Given the description of an element on the screen output the (x, y) to click on. 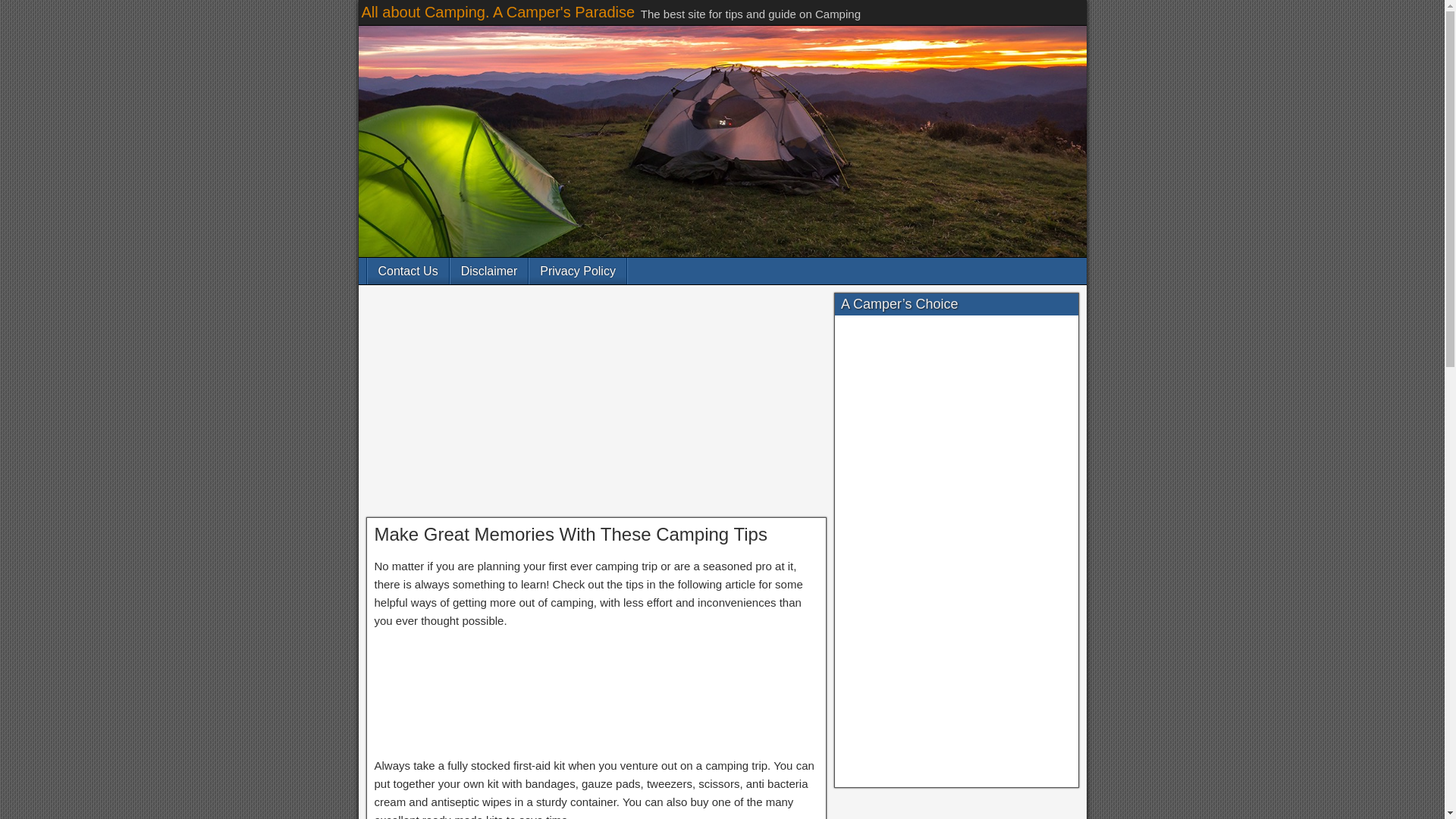
Make Great Memories With These Camping Tips (570, 534)
All about Camping. A Camper's Paradise (497, 12)
Advertisement (596, 404)
Contact Us (407, 270)
Privacy Policy (577, 270)
Advertisement (596, 695)
Disclaimer (488, 270)
